Given the description of an element on the screen output the (x, y) to click on. 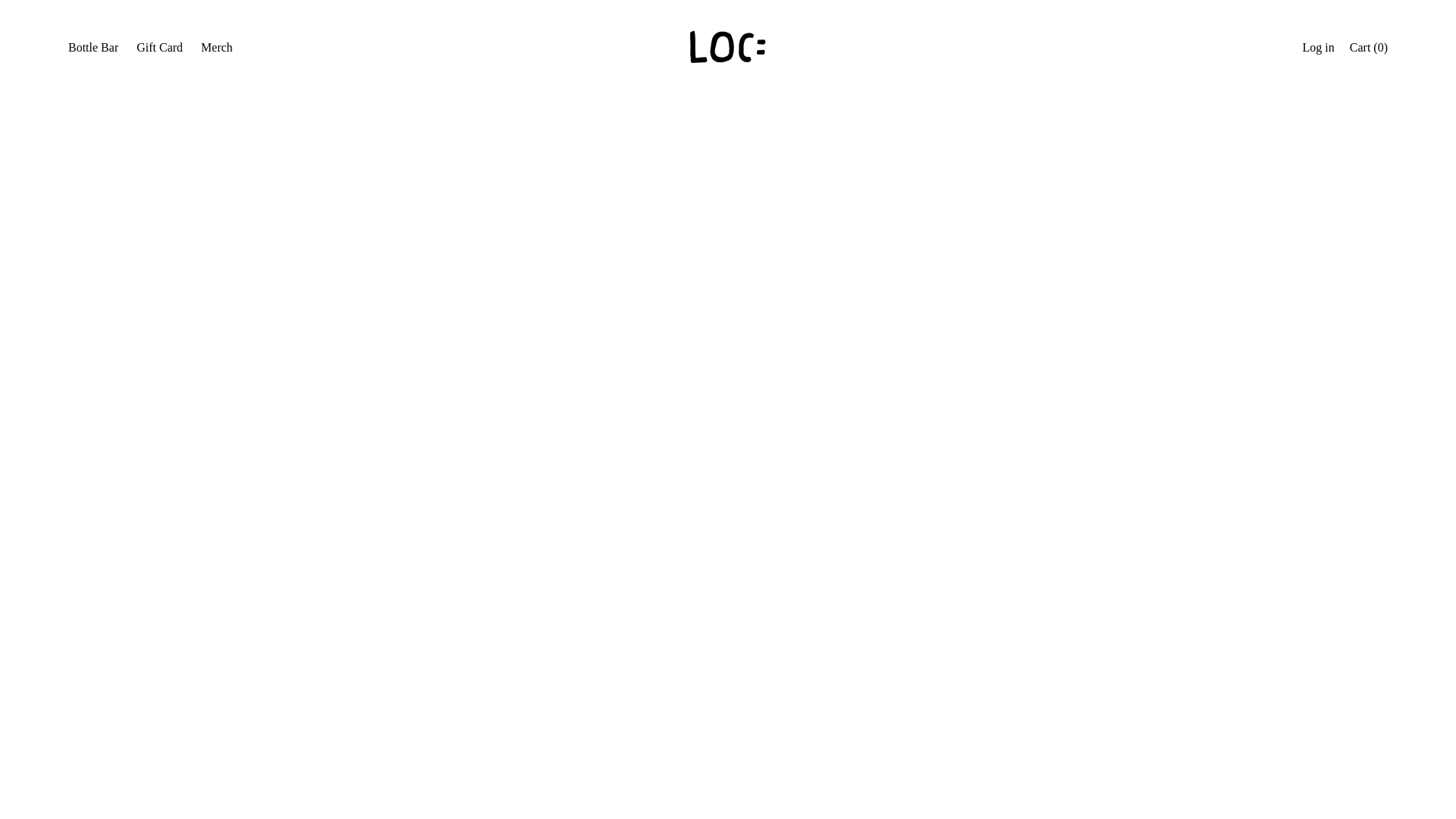
Gift Card Element type: text (106, 252)
Bottle Bar Element type: text (92, 48)
Contact Element type: text (101, 319)
LOC Element type: text (134, 461)
Merch Element type: text (98, 286)
Returns Element type: text (101, 419)
Merch Element type: text (216, 48)
Log in Element type: text (1318, 48)
Cart (0) Element type: text (1368, 48)
Bottle Bar Element type: text (108, 219)
Shipping & Delivery Element type: text (133, 386)
Terms & Conditions Element type: text (132, 353)
Gift Card Element type: text (159, 48)
